Given the description of an element on the screen output the (x, y) to click on. 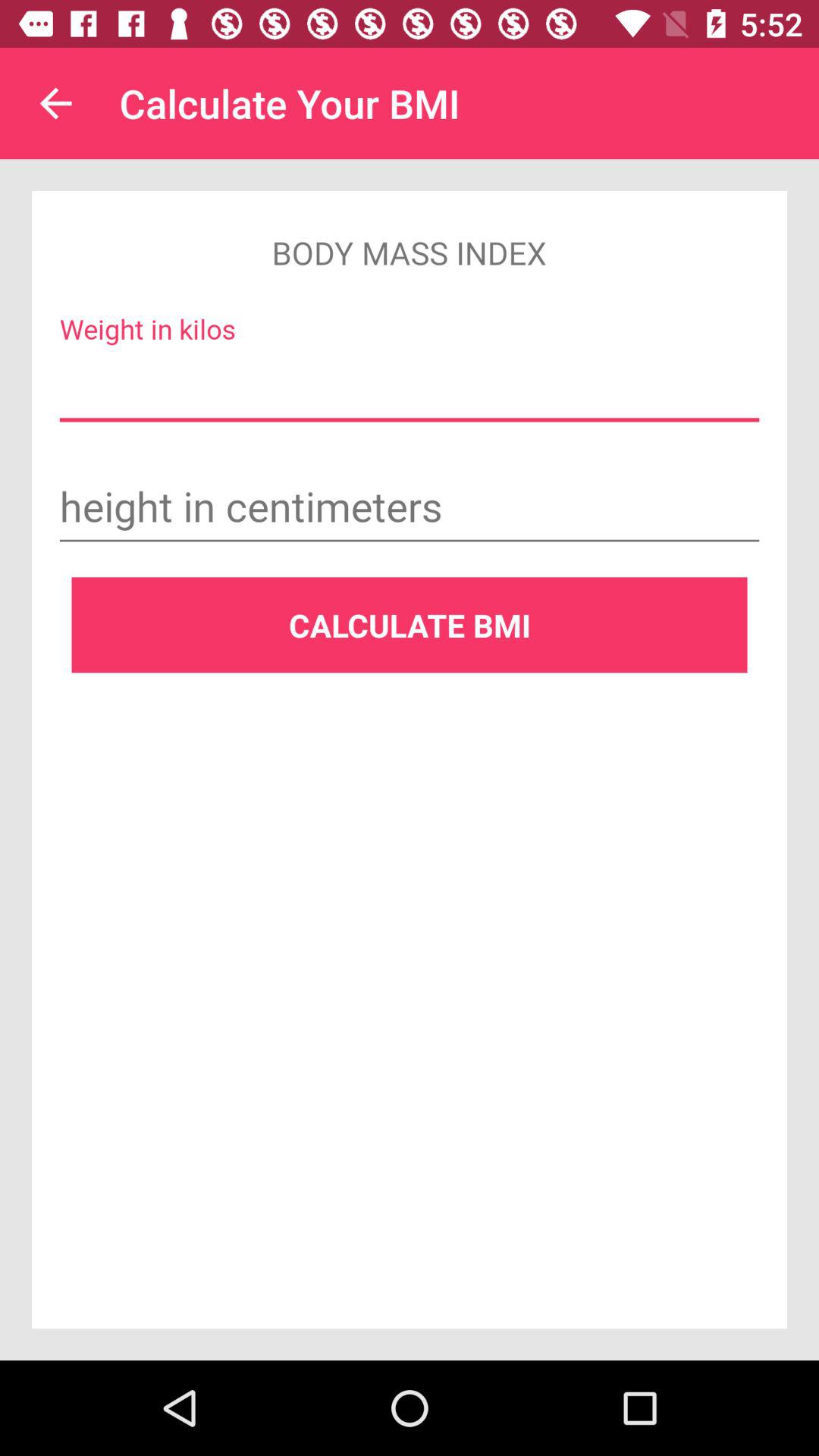
enter weight in kilos (409, 386)
